Given the description of an element on the screen output the (x, y) to click on. 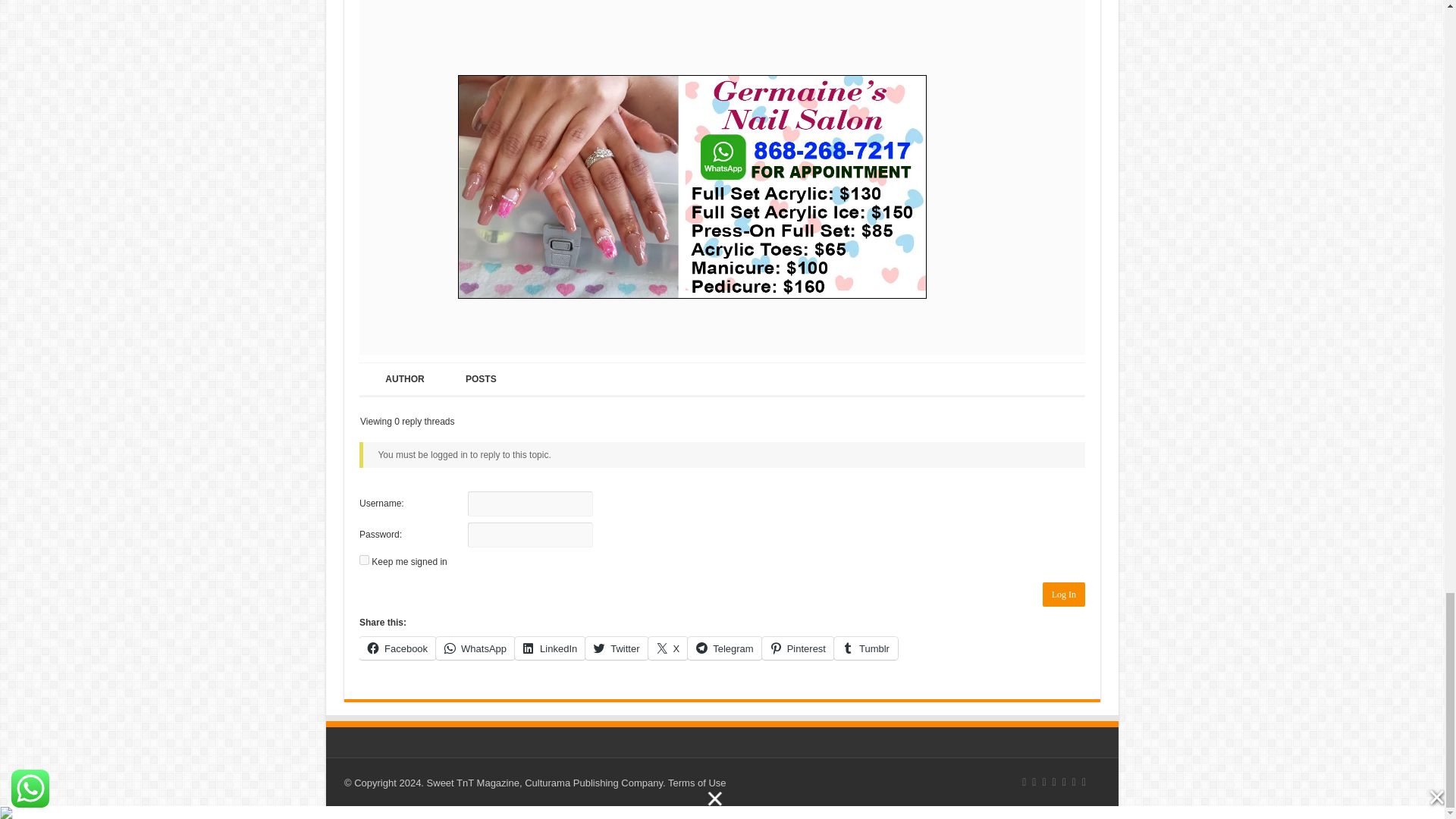
forever (364, 560)
